Given the description of an element on the screen output the (x, y) to click on. 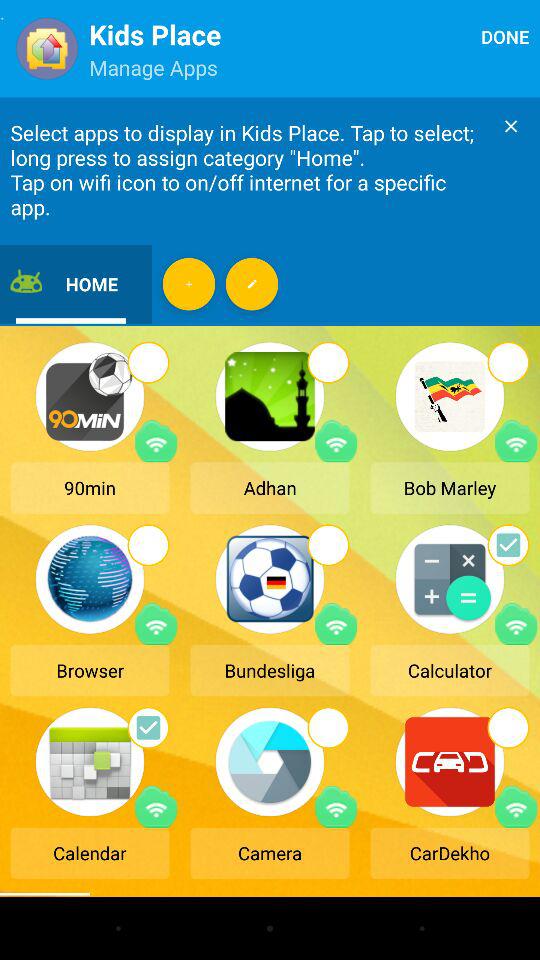
wifi icon (156, 806)
